Given the description of an element on the screen output the (x, y) to click on. 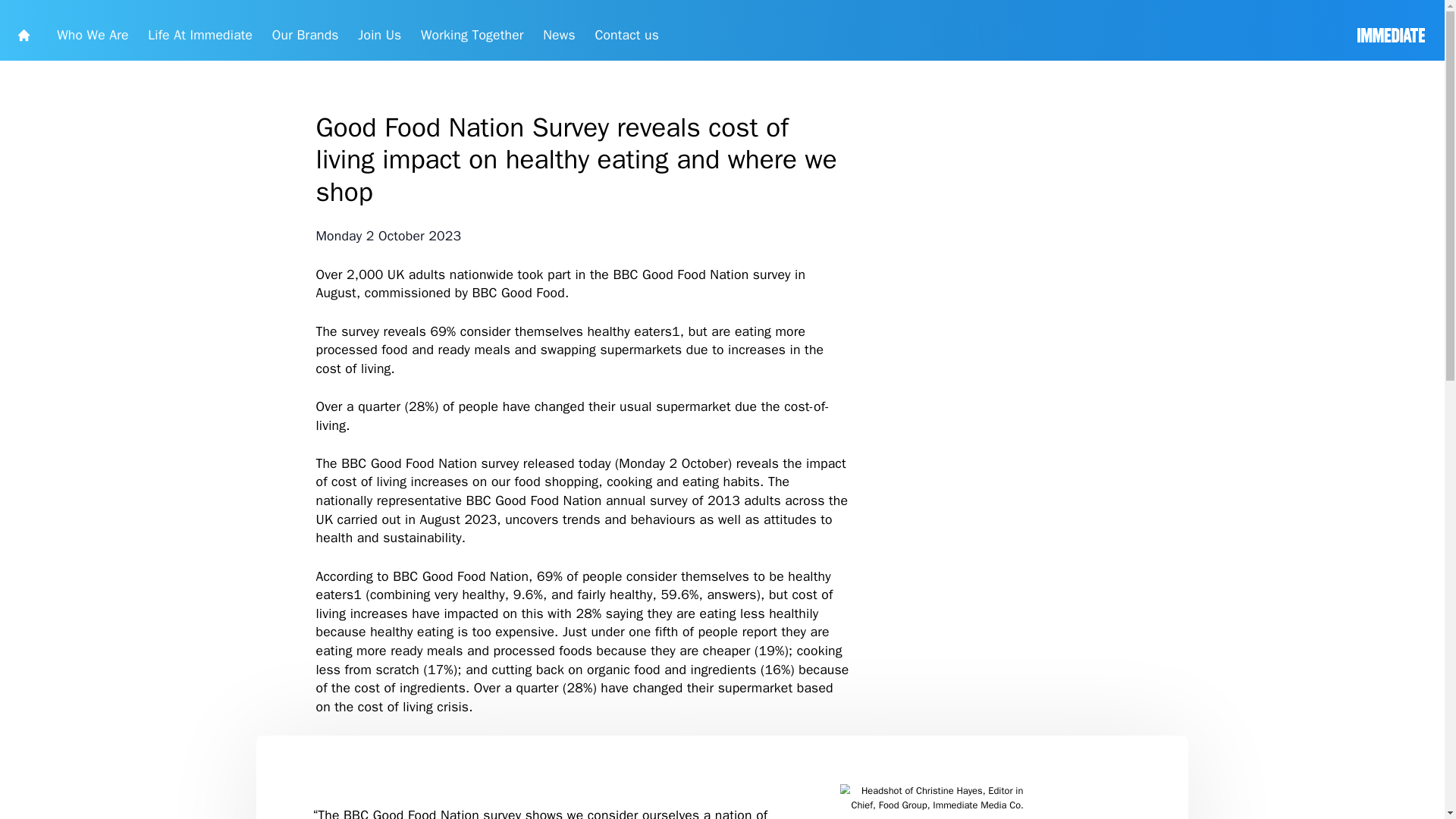
Who We Are (116, 38)
Life At Immediate (250, 38)
Contact us (782, 38)
Our Brands (382, 38)
Join Us (474, 38)
Working Together (589, 38)
